Given the description of an element on the screen output the (x, y) to click on. 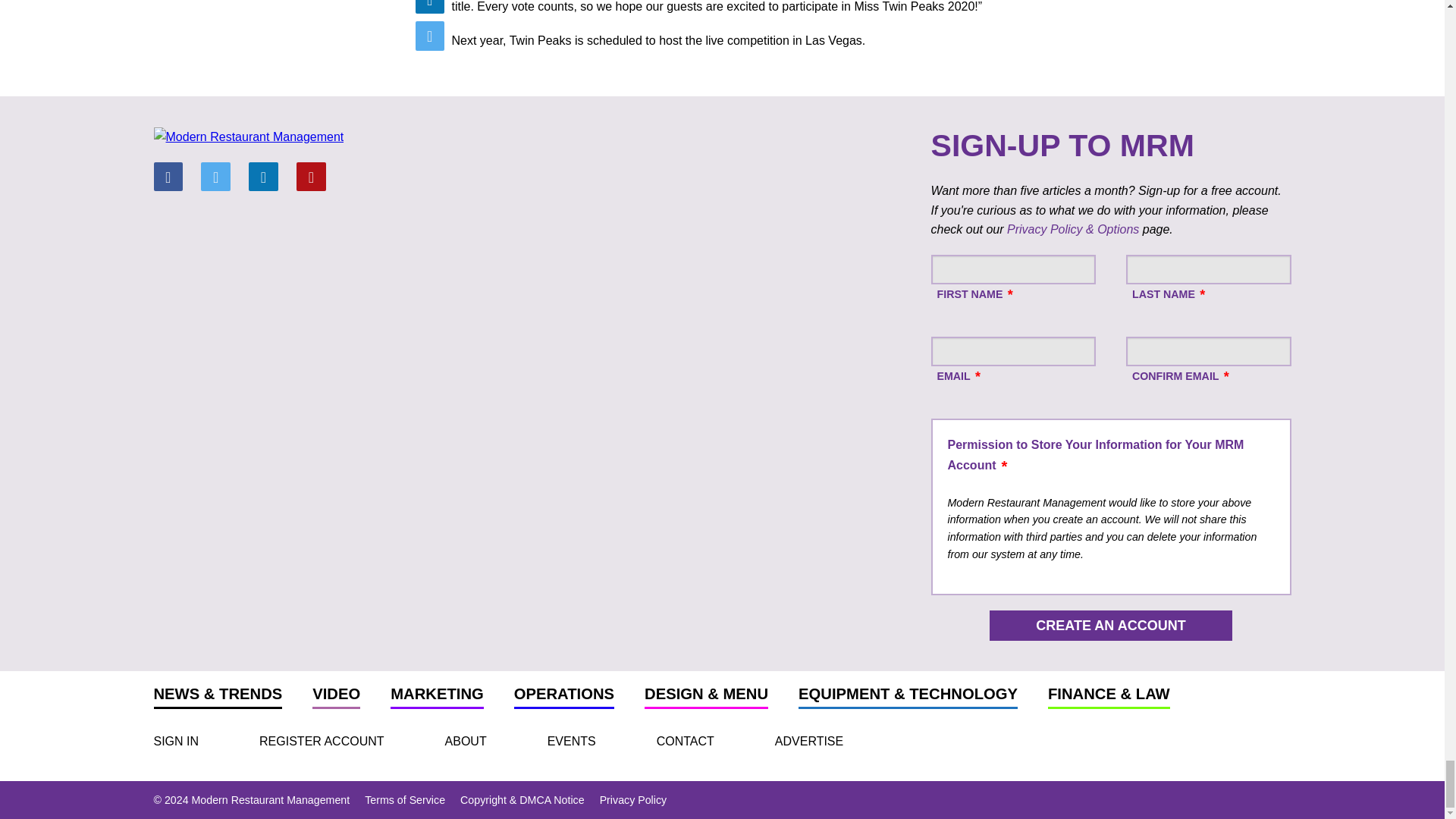
VIDEO (336, 697)
Facebook (167, 176)
Youtube (310, 176)
Linkedin (263, 176)
Create an Account (1110, 625)
OPERATIONS (563, 697)
SIGN IN (175, 740)
REGISTER ACCOUNT (321, 740)
Create an Account (1110, 625)
MARKETING (436, 697)
